Given the description of an element on the screen output the (x, y) to click on. 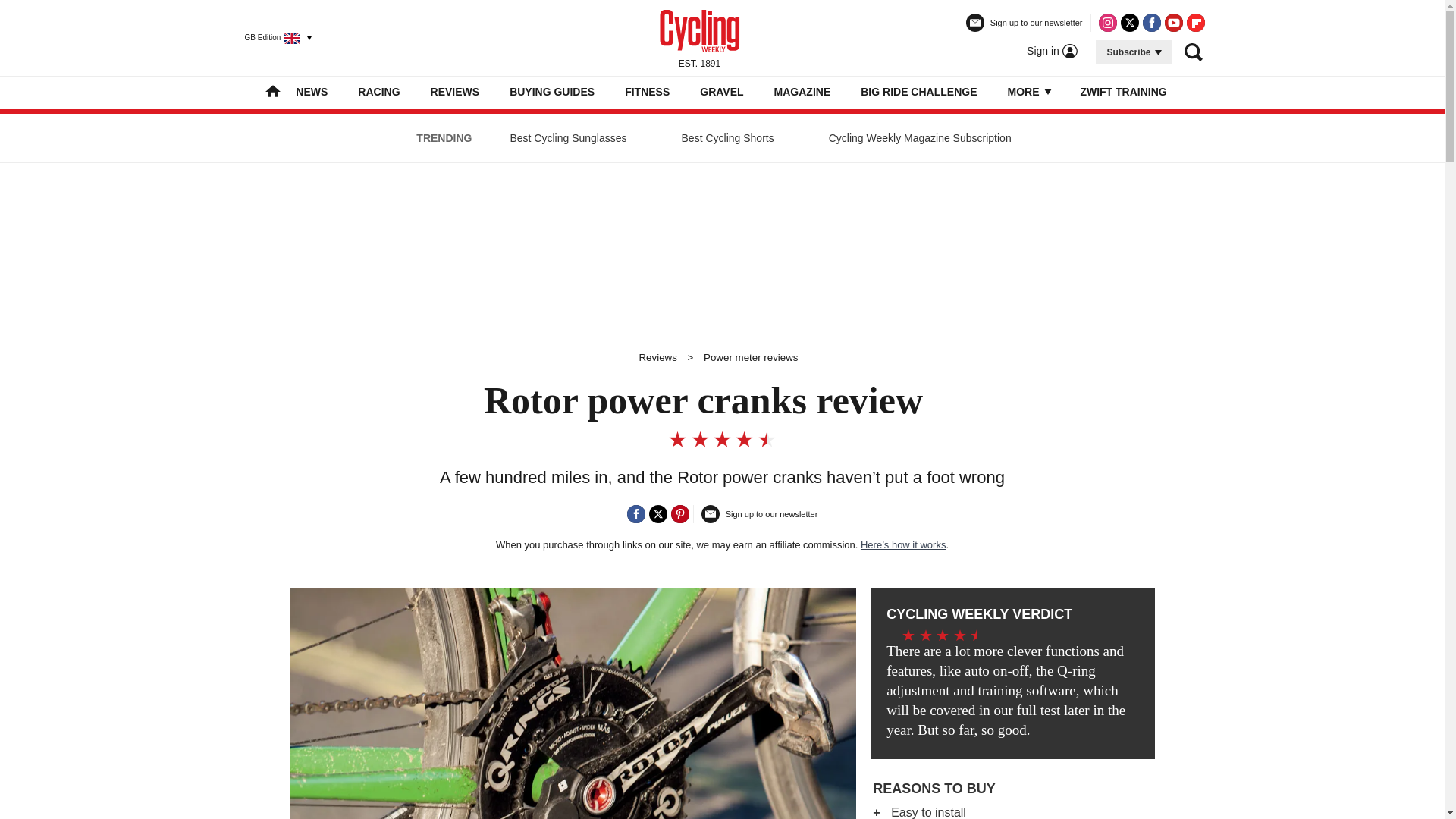
Best Cycling Shorts (727, 137)
Power meter reviews (750, 357)
GB Edition (271, 37)
EST. 1891 (699, 37)
Cycling Weekly Magazine Subscription (920, 137)
BIG RIDE CHALLENGE (918, 91)
GRAVEL (721, 91)
NEWS (311, 91)
REVIEWS (455, 91)
MAGAZINE (802, 91)
